Given the description of an element on the screen output the (x, y) to click on. 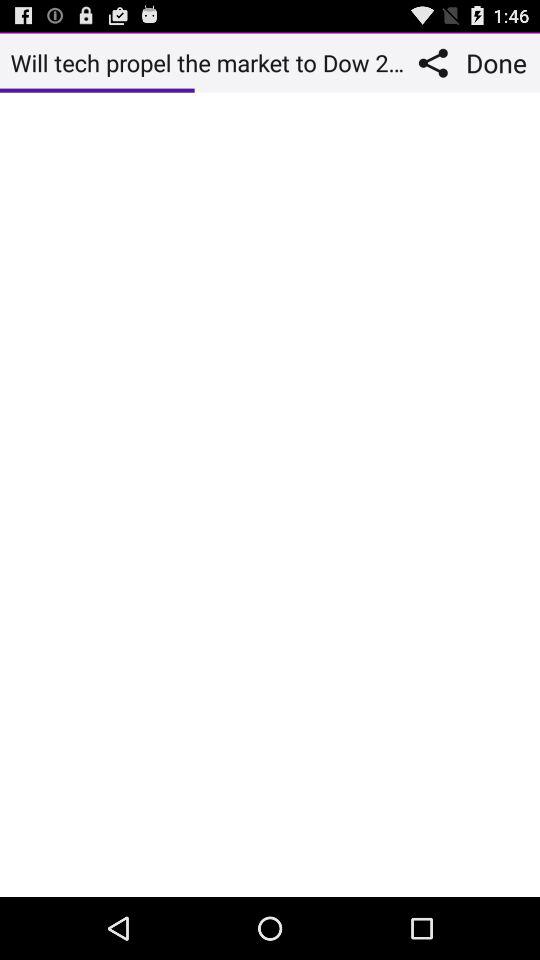
flip to done (499, 62)
